Given the description of an element on the screen output the (x, y) to click on. 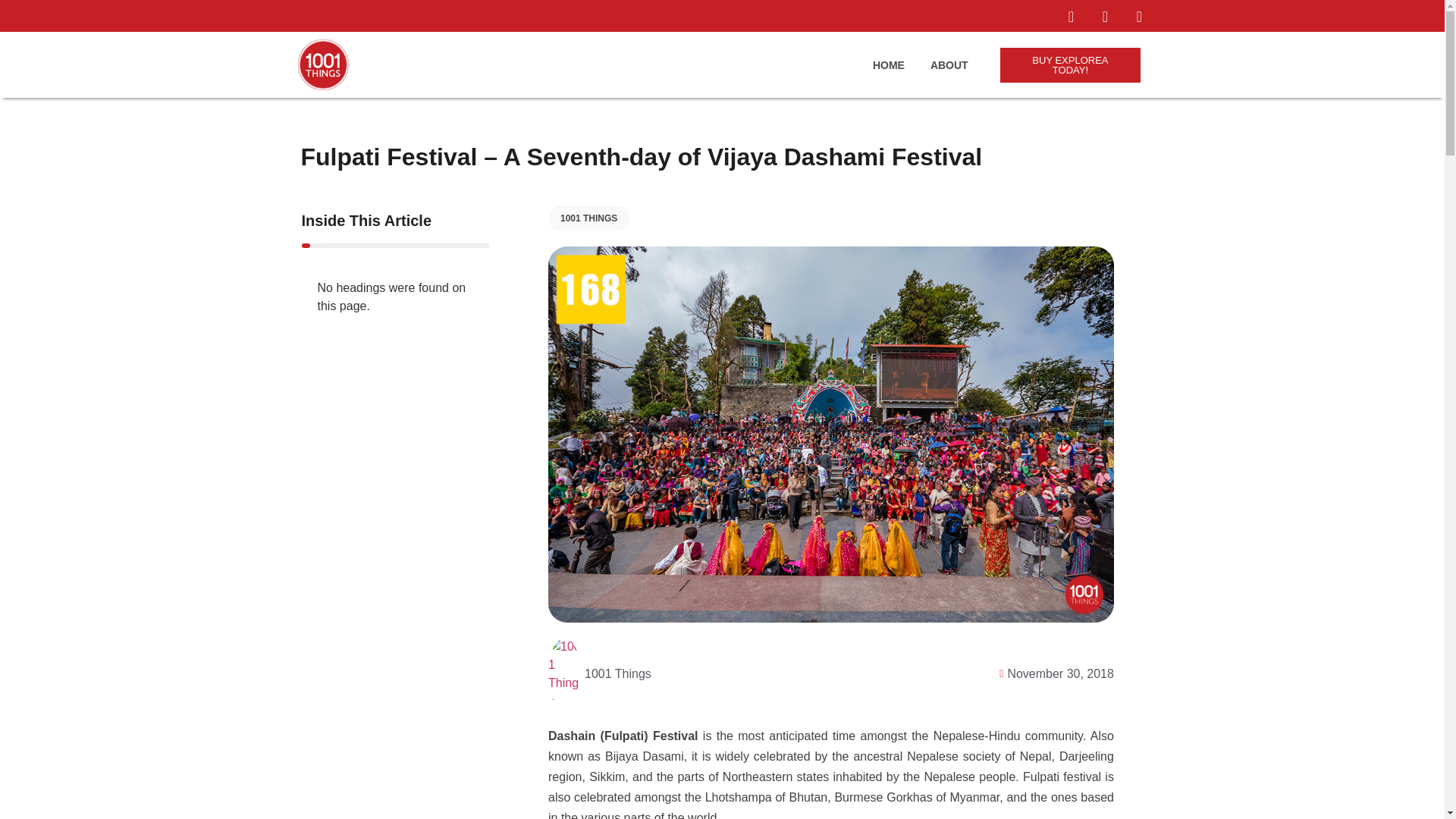
1001 Things (599, 674)
November 30, 2018 (1052, 674)
HOME (887, 64)
ABOUT (948, 64)
BUY EXPLOREA TODAY! (1070, 64)
